Given the description of an element on the screen output the (x, y) to click on. 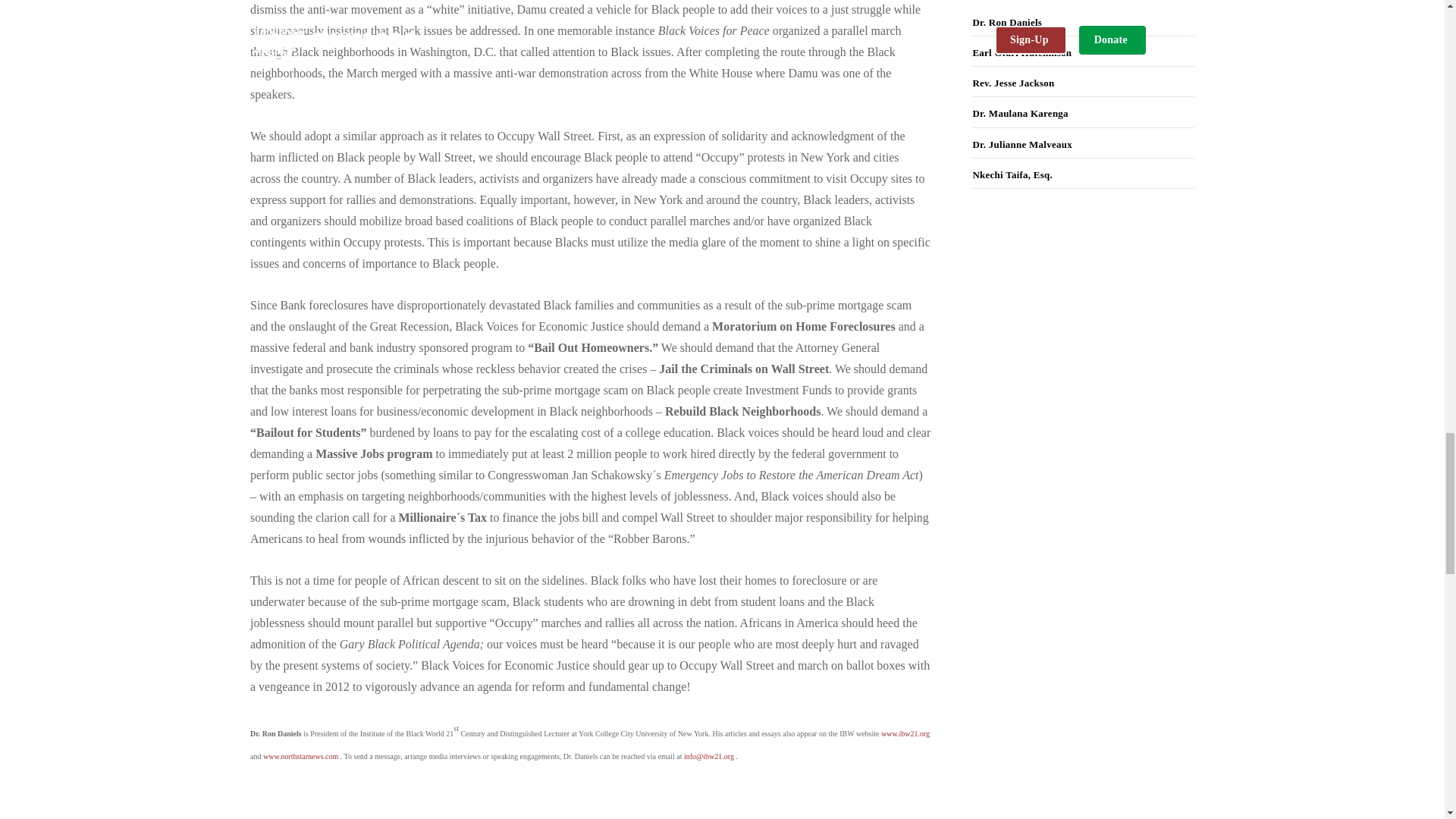
www.northstarnews.com (300, 756)
www.ibw21.org (905, 733)
